Given the description of an element on the screen output the (x, y) to click on. 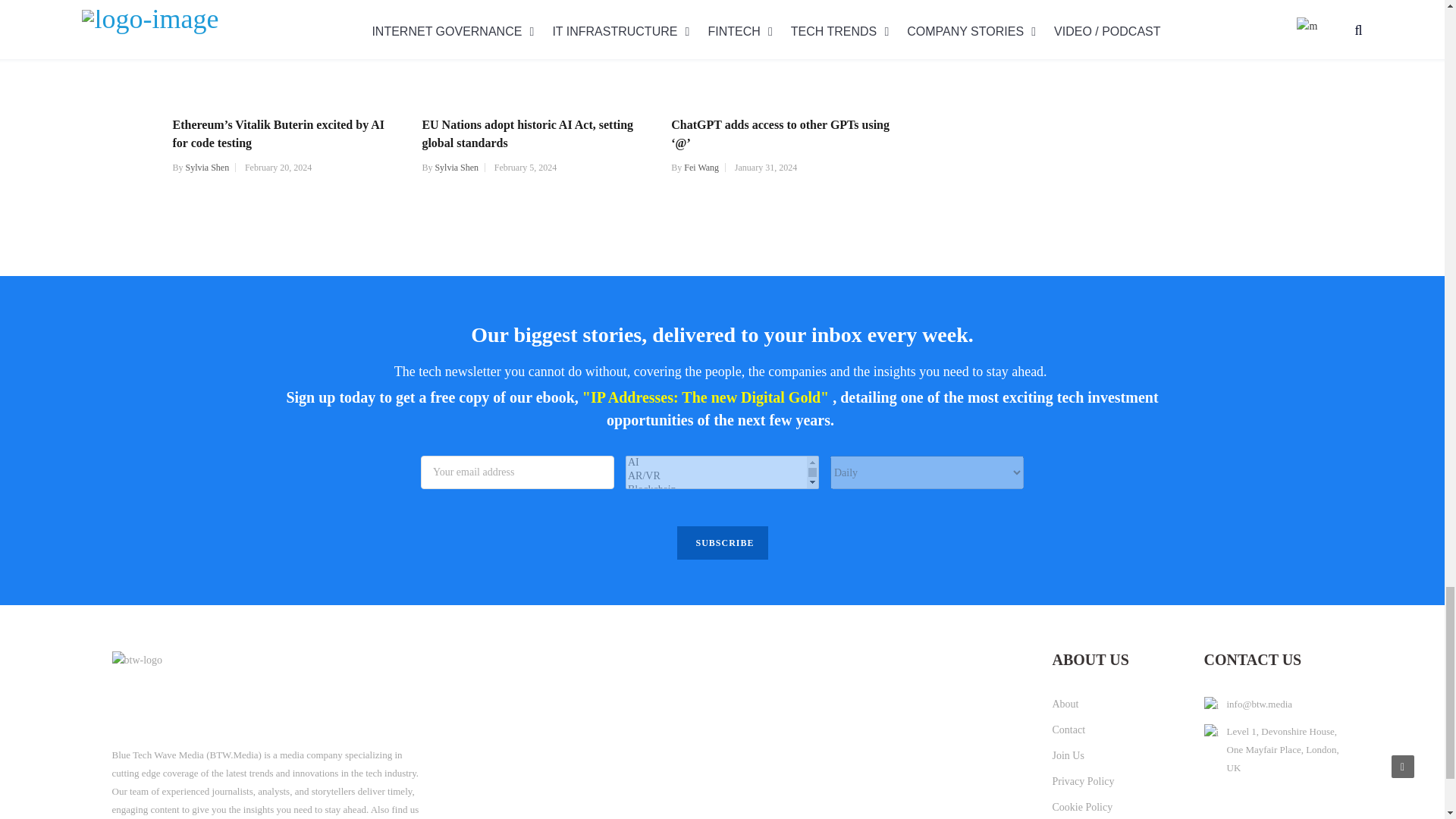
Subscribe (722, 542)
Subscribe (722, 542)
